Given the description of an element on the screen output the (x, y) to click on. 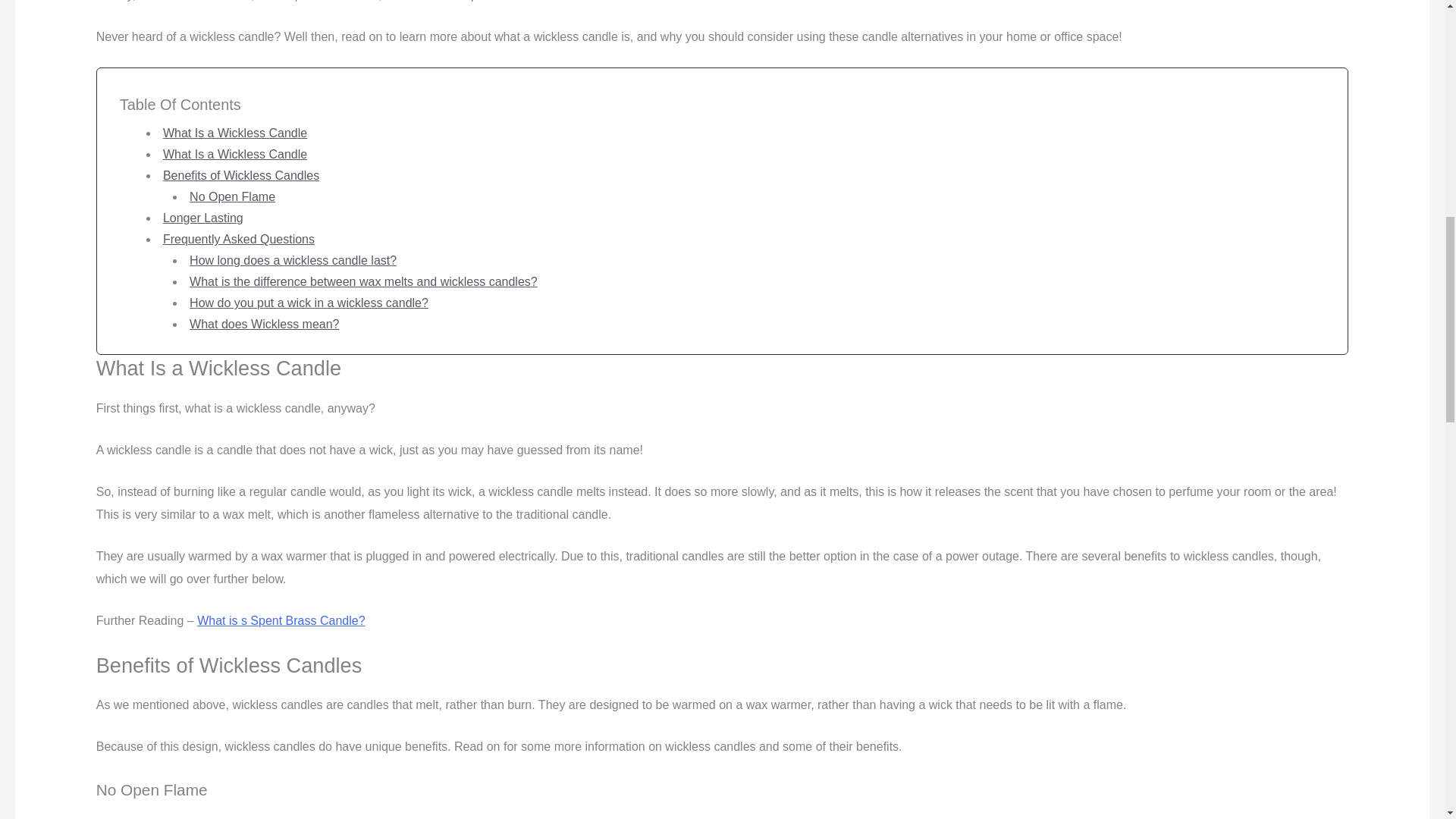
No Open Flame (232, 196)
Benefits of Wickless Candles (240, 174)
What Is a Wickless Candle (235, 154)
What is s Spent Brass Candle? (280, 620)
What Is a Wickless Candle (235, 132)
How do you put a wick in a wickless candle? (308, 302)
Frequently Asked Questions (238, 238)
Longer Lasting (203, 217)
How long does a wickless candle last? (292, 259)
What does Wickless mean? (264, 323)
